Given the description of an element on the screen output the (x, y) to click on. 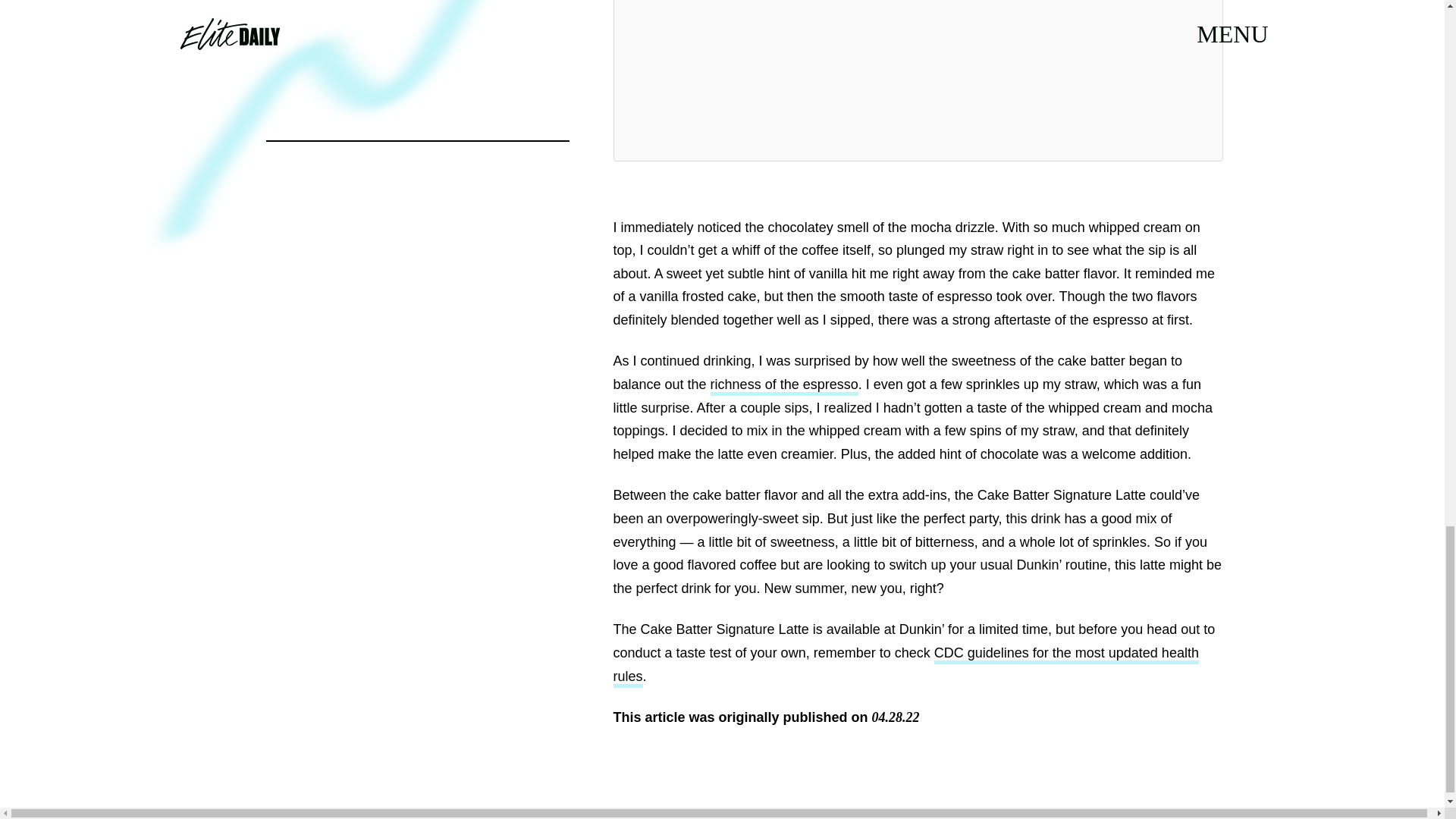
CDC guidelines for the most updated health rules (905, 666)
richness of the espresso (784, 385)
